Given the description of an element on the screen output the (x, y) to click on. 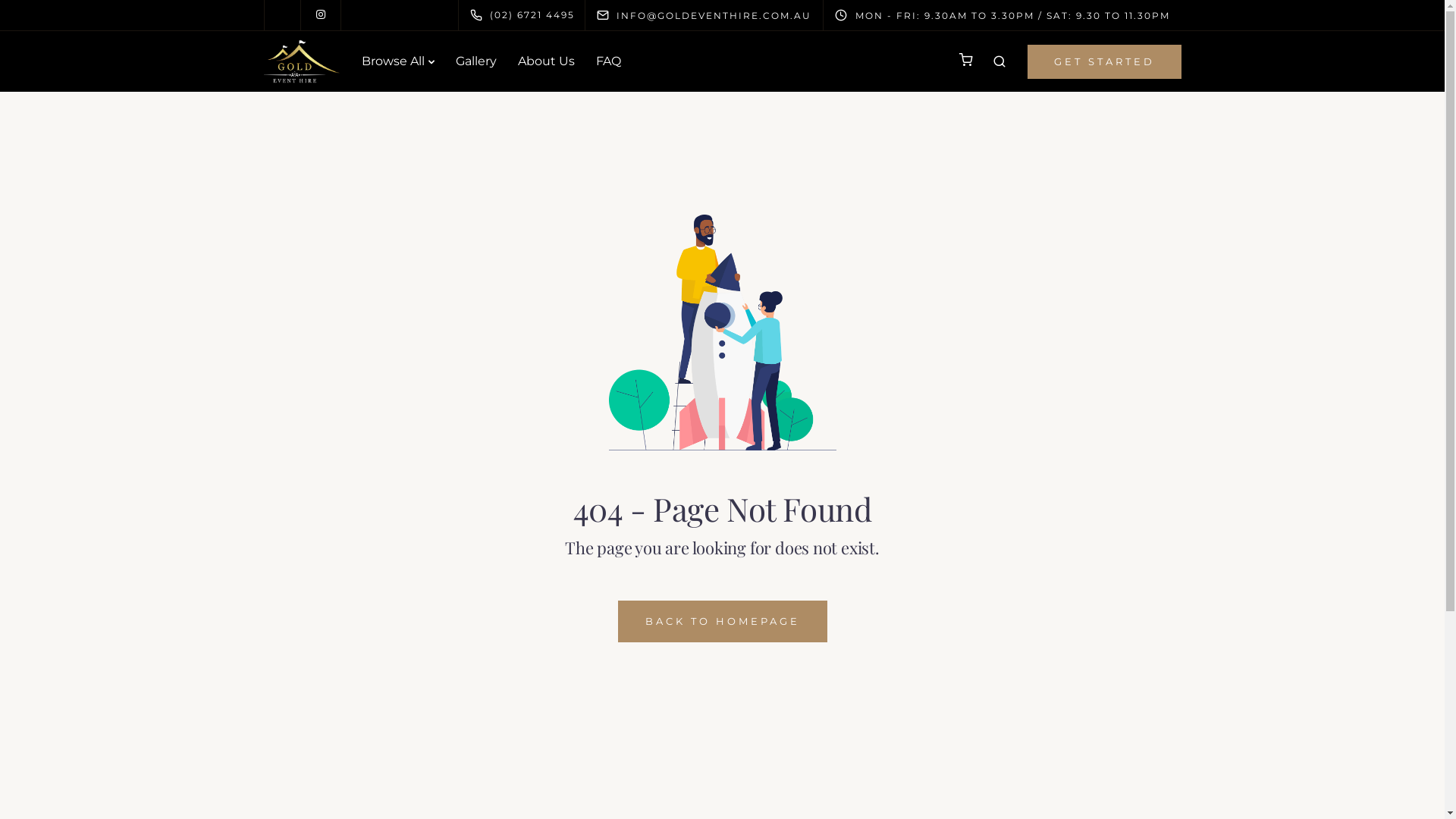
Gallery Element type: text (475, 61)
FAQ Element type: text (608, 61)
BACK TO HOMEPAGE Element type: text (721, 621)
GET STARTED Element type: text (1103, 60)
About Us Element type: text (545, 61)
Browse All Element type: text (397, 61)
INFO@GOLDEVENTHIRE.COM.AU Element type: text (717, 15)
(02) 6721 4495 Element type: text (525, 15)
